Given the description of an element on the screen output the (x, y) to click on. 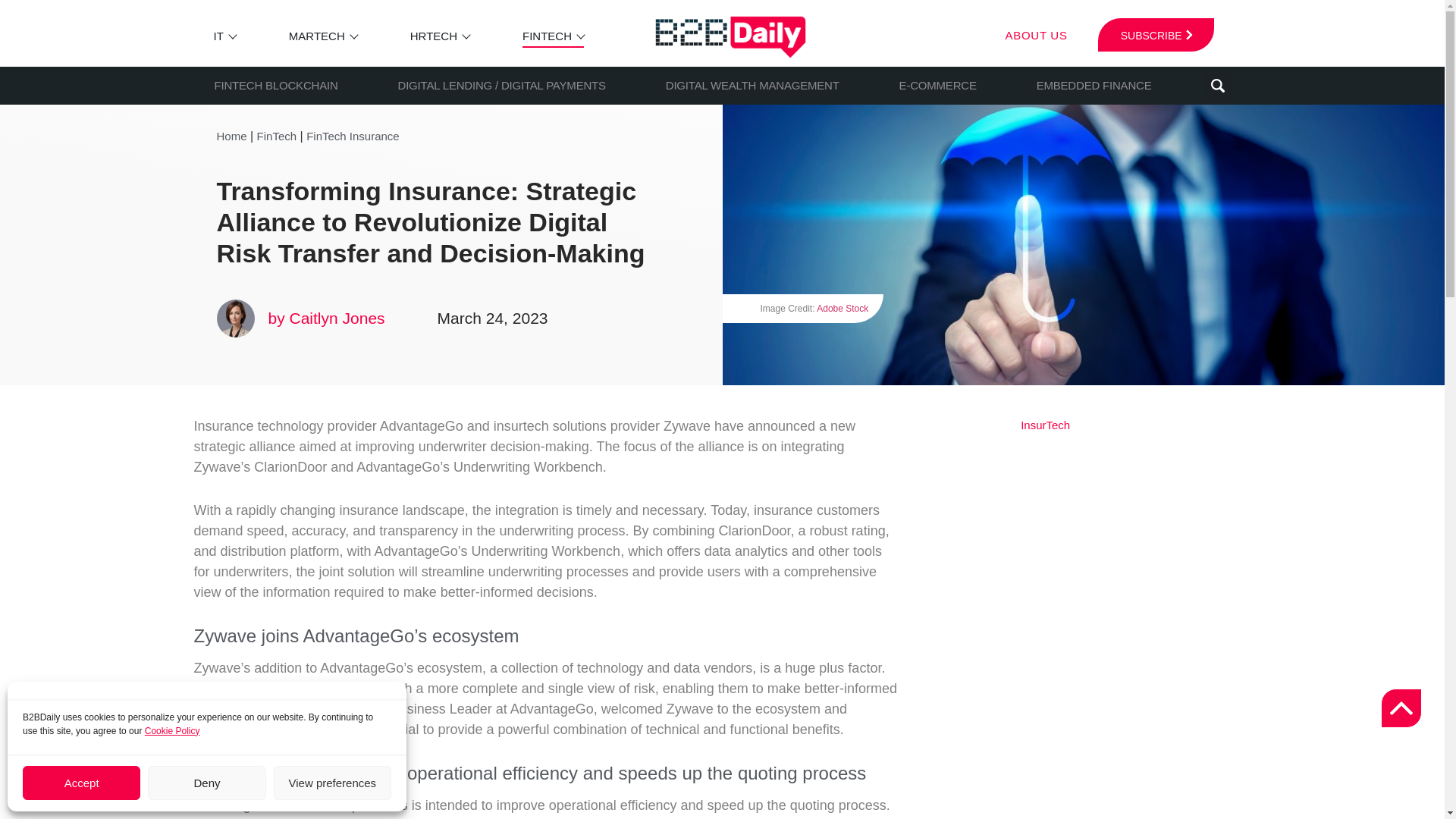
View preferences (332, 782)
Cookie Policy (172, 730)
Deny (206, 782)
Accept (81, 782)
MARTECH (316, 36)
